Given the description of an element on the screen output the (x, y) to click on. 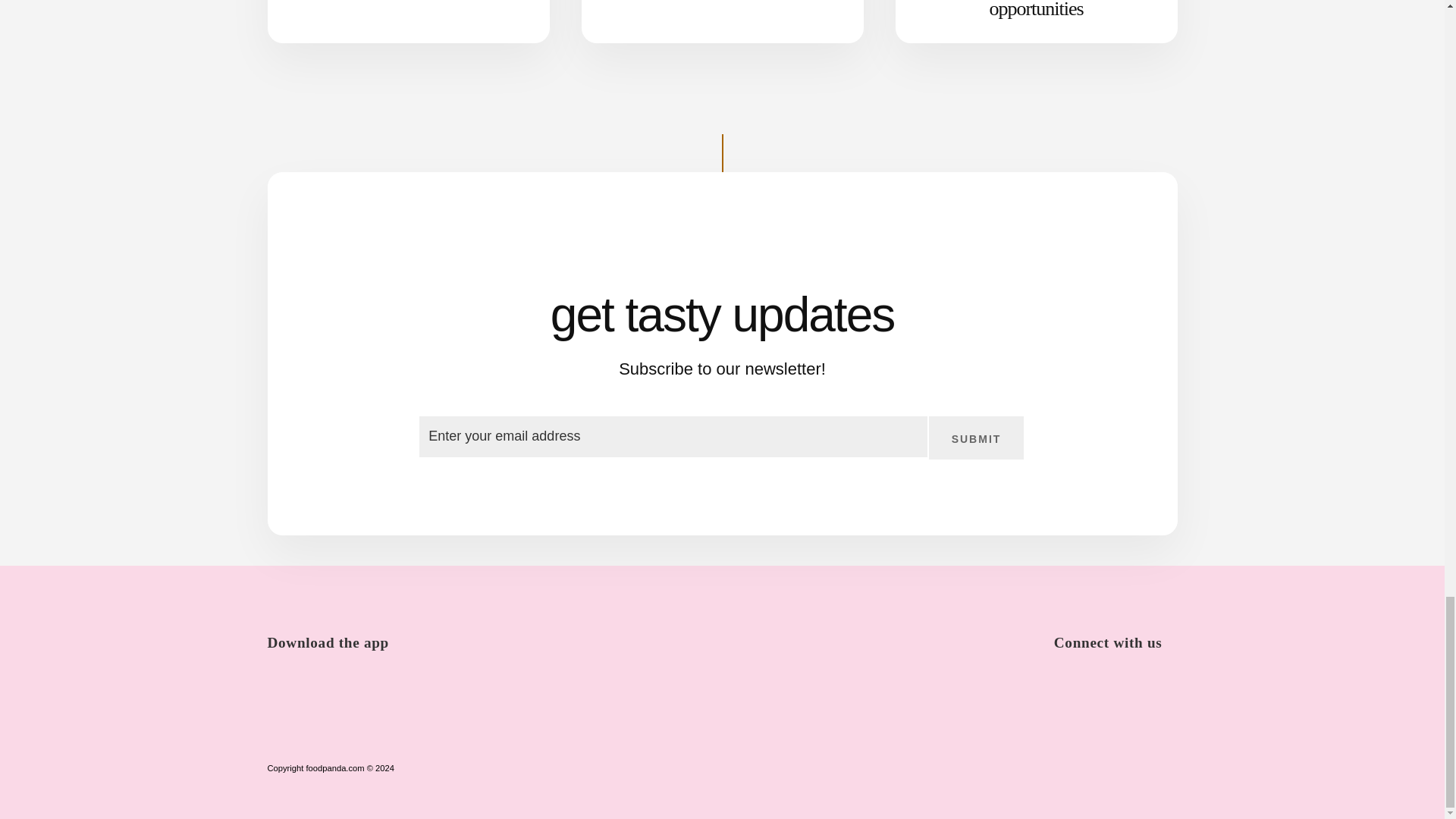
SUBMIT (976, 438)
Connect with us (1115, 630)
Download the app (334, 630)
